Given the description of an element on the screen output the (x, y) to click on. 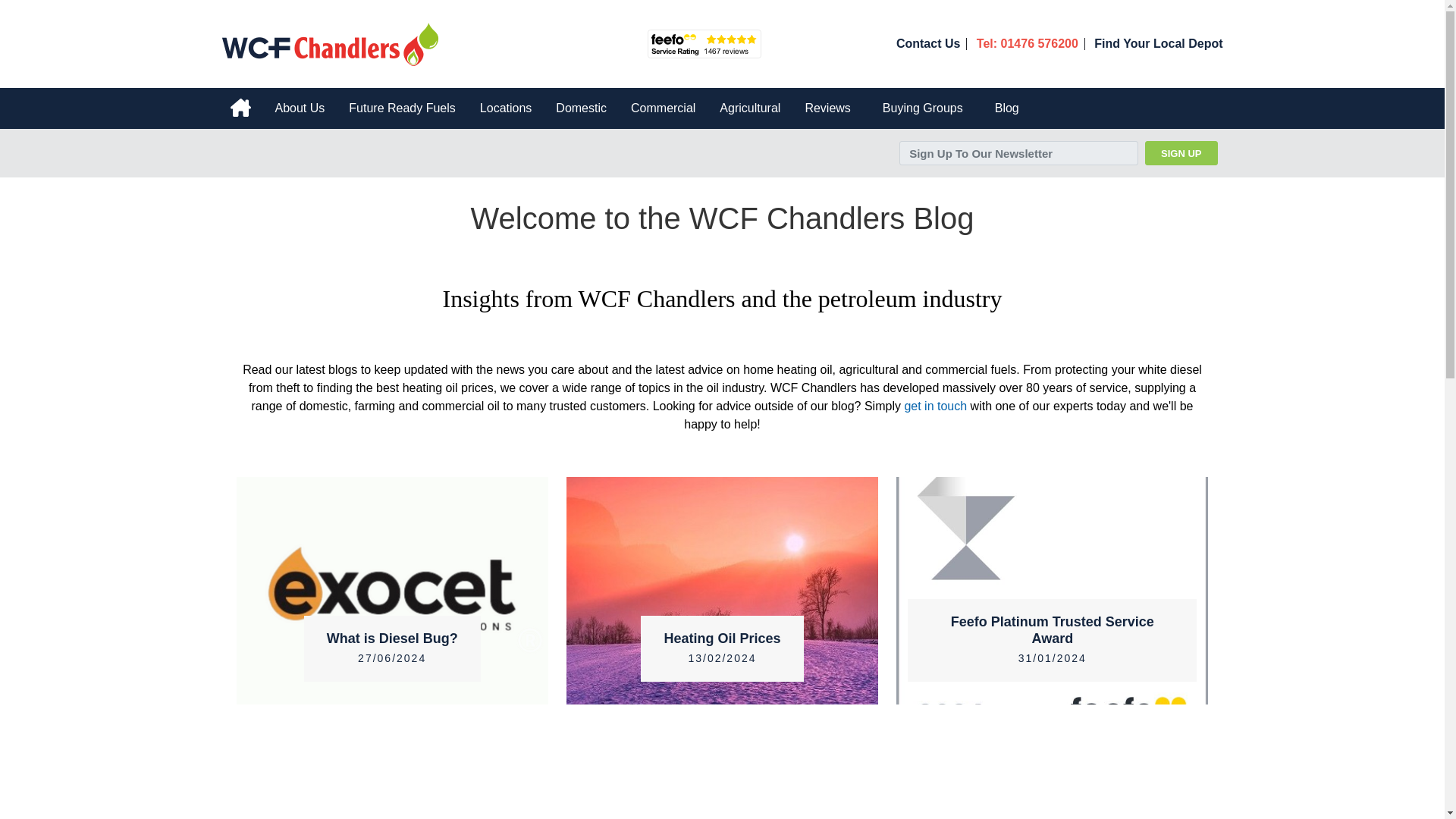
Contact Us (927, 43)
About Us (299, 108)
Future Ready Fuels (401, 108)
See what our customers say about us (704, 43)
Click here to visit our homepage (330, 42)
About Us (299, 108)
Domestic (580, 108)
Locations (505, 108)
Future Ready Fuels (401, 108)
Click here to contact us (927, 43)
